Given the description of an element on the screen output the (x, y) to click on. 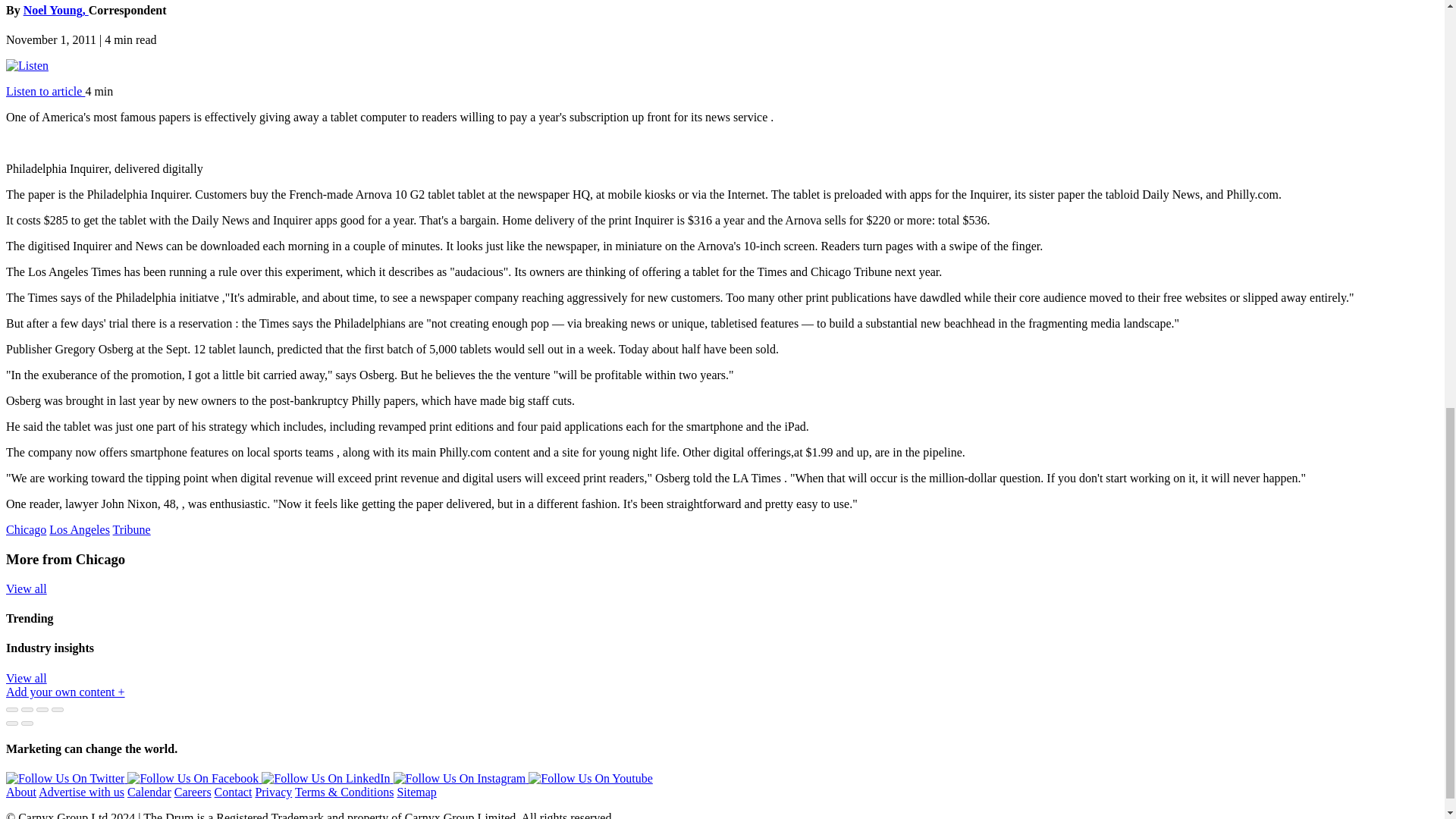
View all (25, 677)
Chicago (25, 529)
Los Angeles (79, 529)
Tribune (132, 529)
Careers (192, 791)
Advertise with us (81, 791)
About (20, 791)
Toggle fullscreen (42, 709)
View all (25, 588)
Noel Young, (55, 10)
Listen to article (44, 91)
Calendar (149, 791)
Share (27, 709)
Contact (232, 791)
Privacy (273, 791)
